Given the description of an element on the screen output the (x, y) to click on. 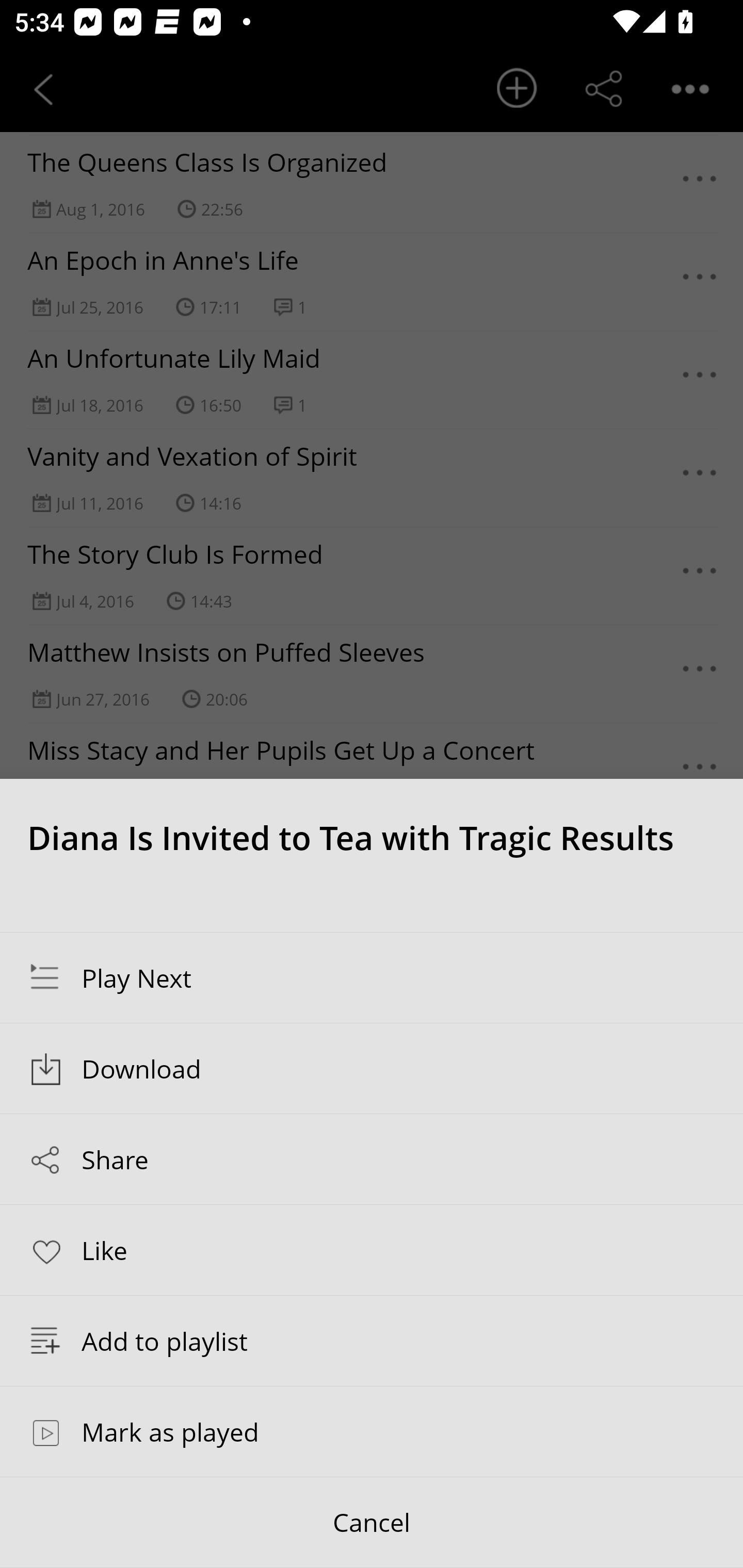
Play Next (371, 977)
Download (371, 1068)
Share (371, 1159)
Like (371, 1249)
Add to playlist (371, 1340)
Mark as played (371, 1431)
Cancel (371, 1522)
